Given the description of an element on the screen output the (x, y) to click on. 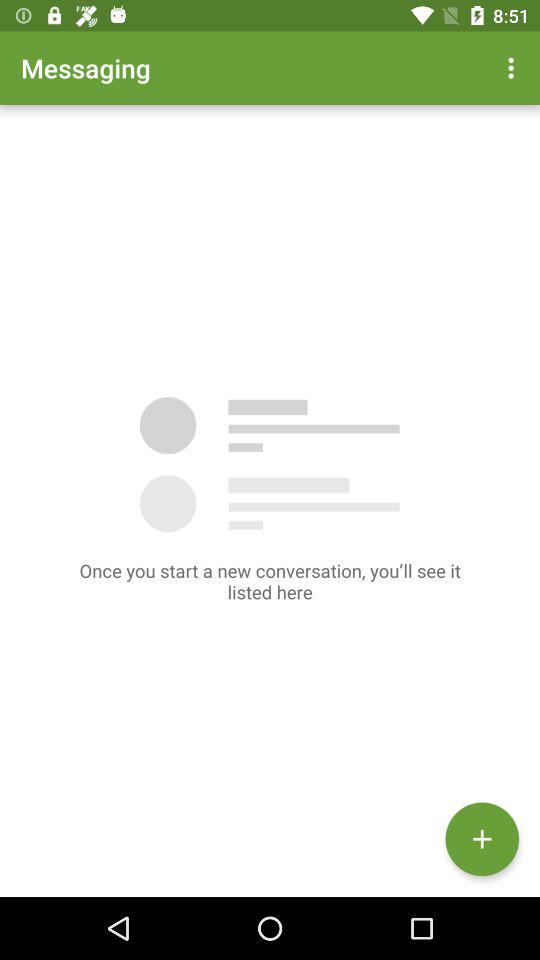
turn on app next to messaging app (513, 67)
